Given the description of an element on the screen output the (x, y) to click on. 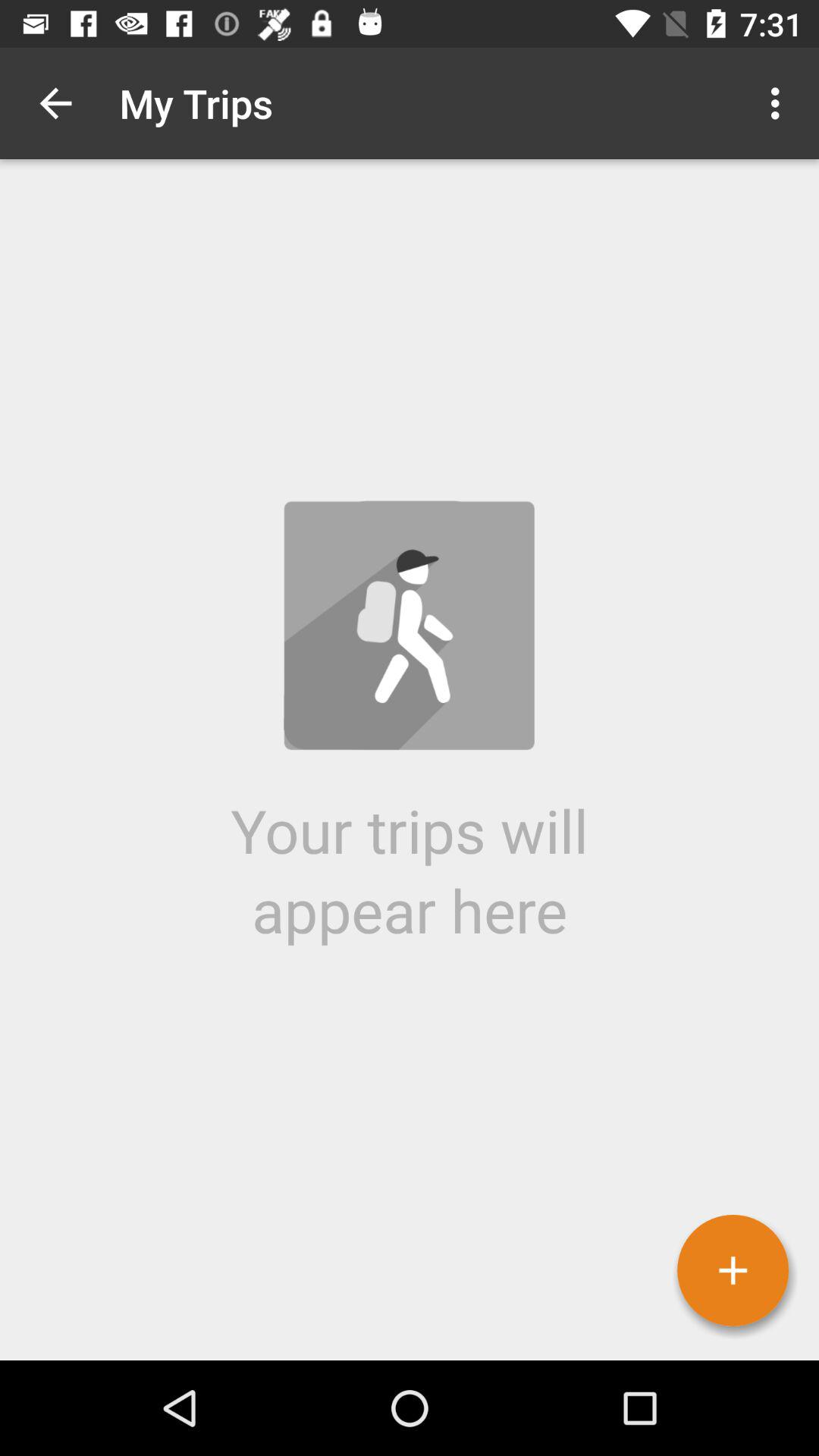
click the item below appear here icon (733, 1270)
